Given the description of an element on the screen output the (x, y) to click on. 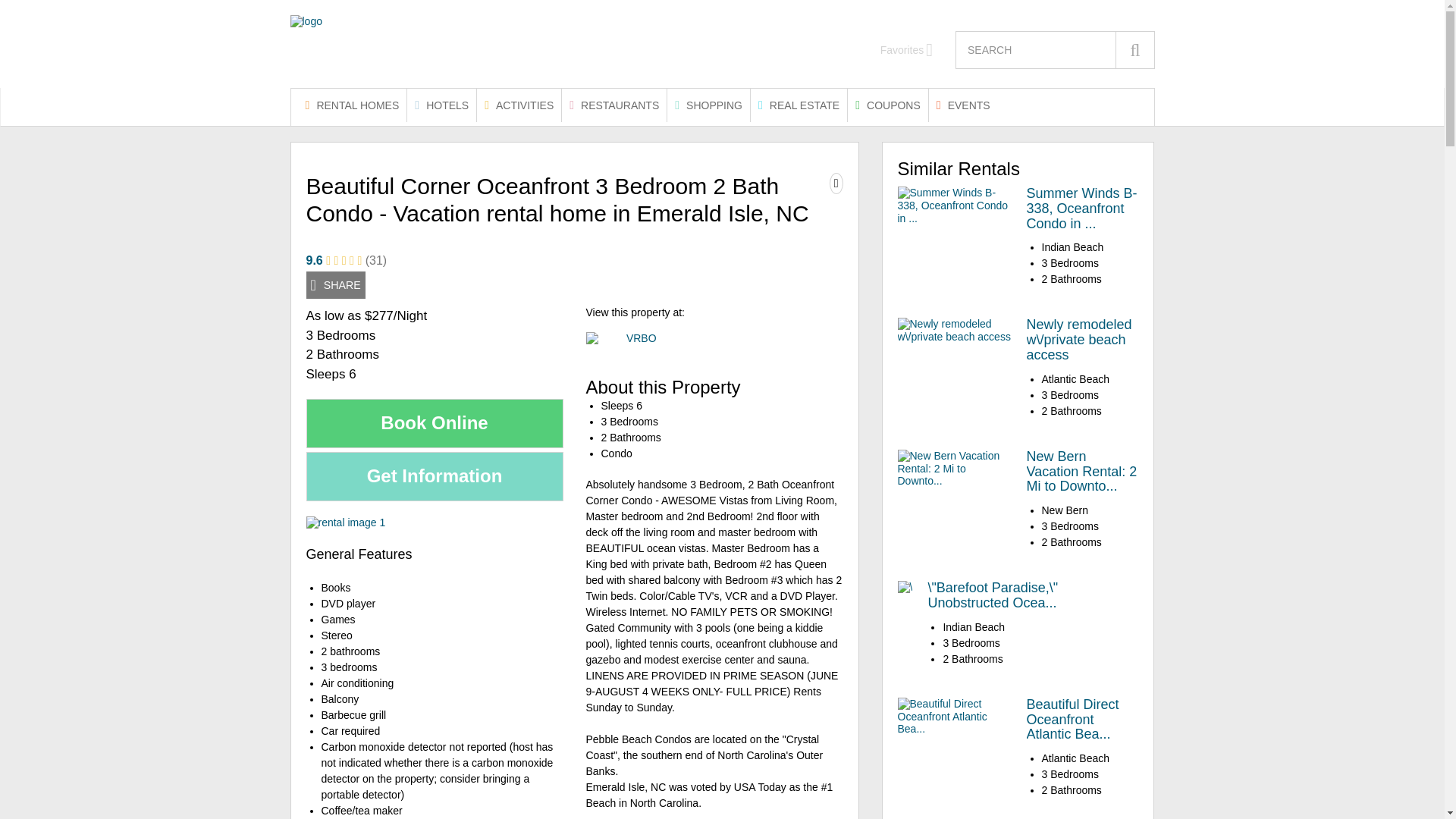
RESTAURANTS (614, 105)
Book Online (434, 422)
EVENTS (962, 105)
HOTELS (441, 105)
Favorites (906, 49)
RENTAL HOMES (352, 105)
REAL ESTATE (799, 105)
SHARE (335, 284)
SHOPPING (707, 105)
COUPONS (887, 105)
